Given the description of an element on the screen output the (x, y) to click on. 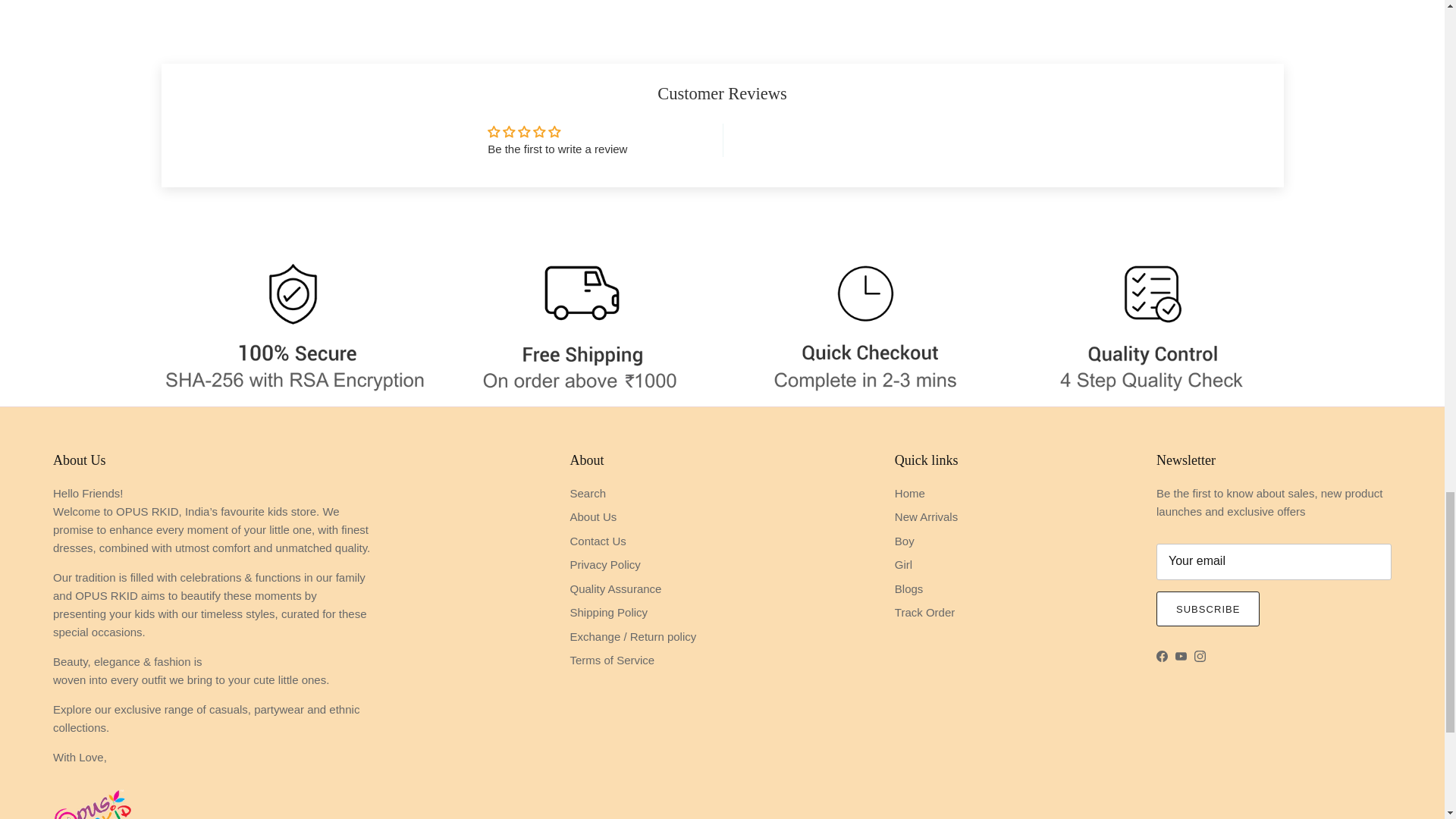
OPUS RKID on Facebook (1161, 655)
OPUS RKID on Instagram (1199, 655)
OPUS RKID on YouTube (1180, 655)
